Given the description of an element on the screen output the (x, y) to click on. 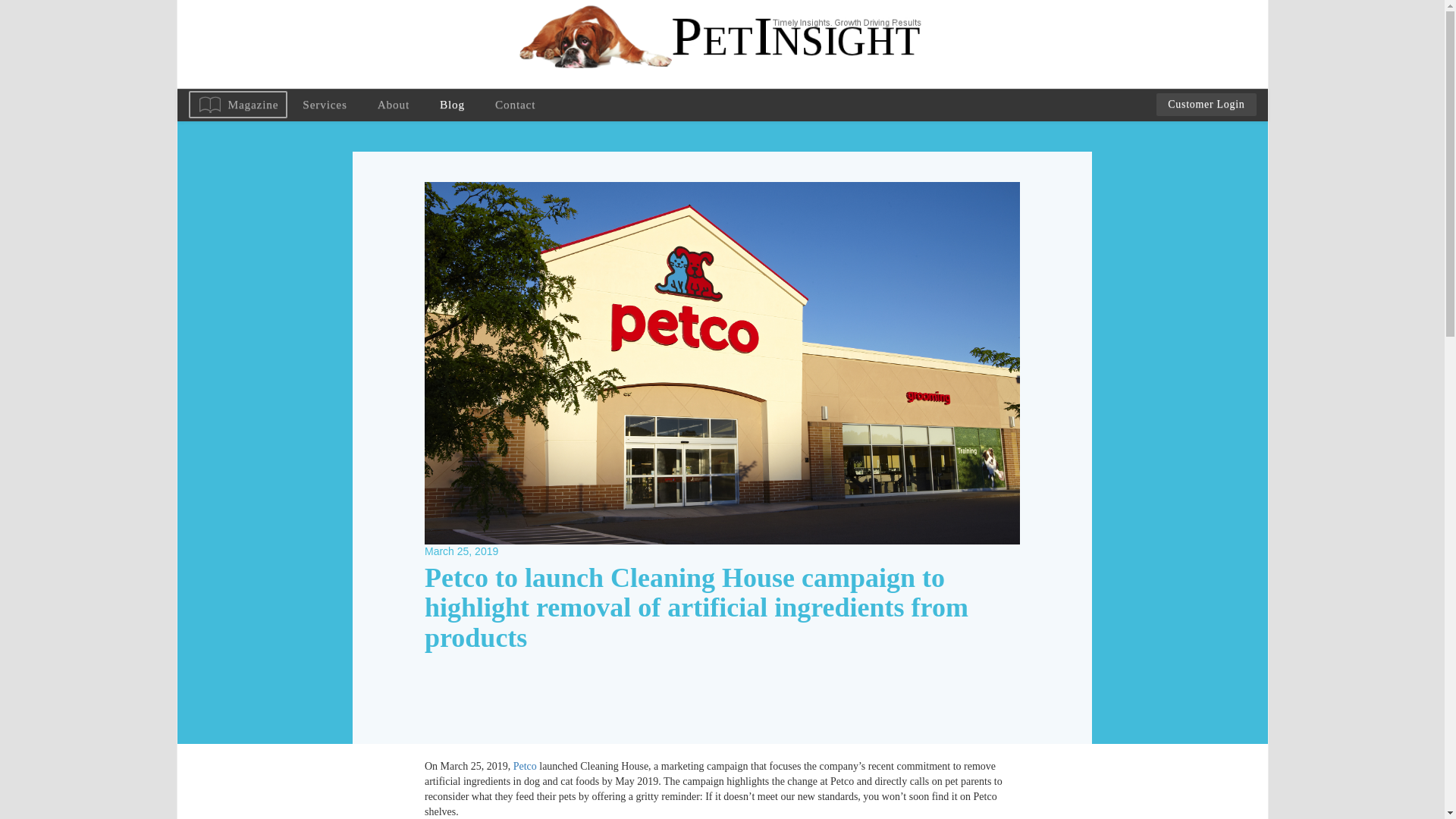
Blog (452, 103)
Magazine (237, 104)
Services (323, 103)
Customer Login (1205, 104)
About (393, 103)
Contact (515, 103)
Petco (525, 766)
